Given the description of an element on the screen output the (x, y) to click on. 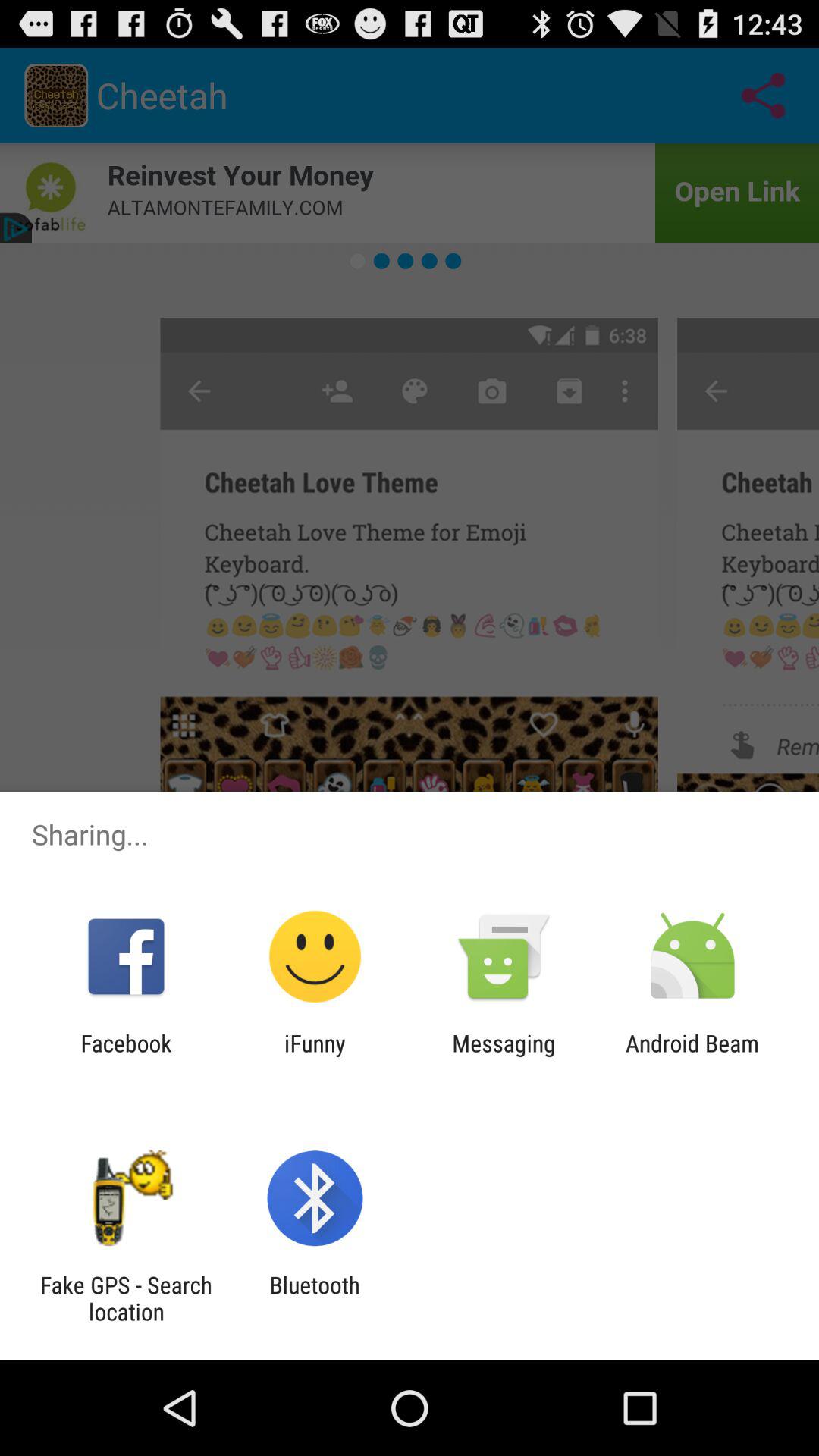
open facebook icon (125, 1056)
